Given the description of an element on the screen output the (x, y) to click on. 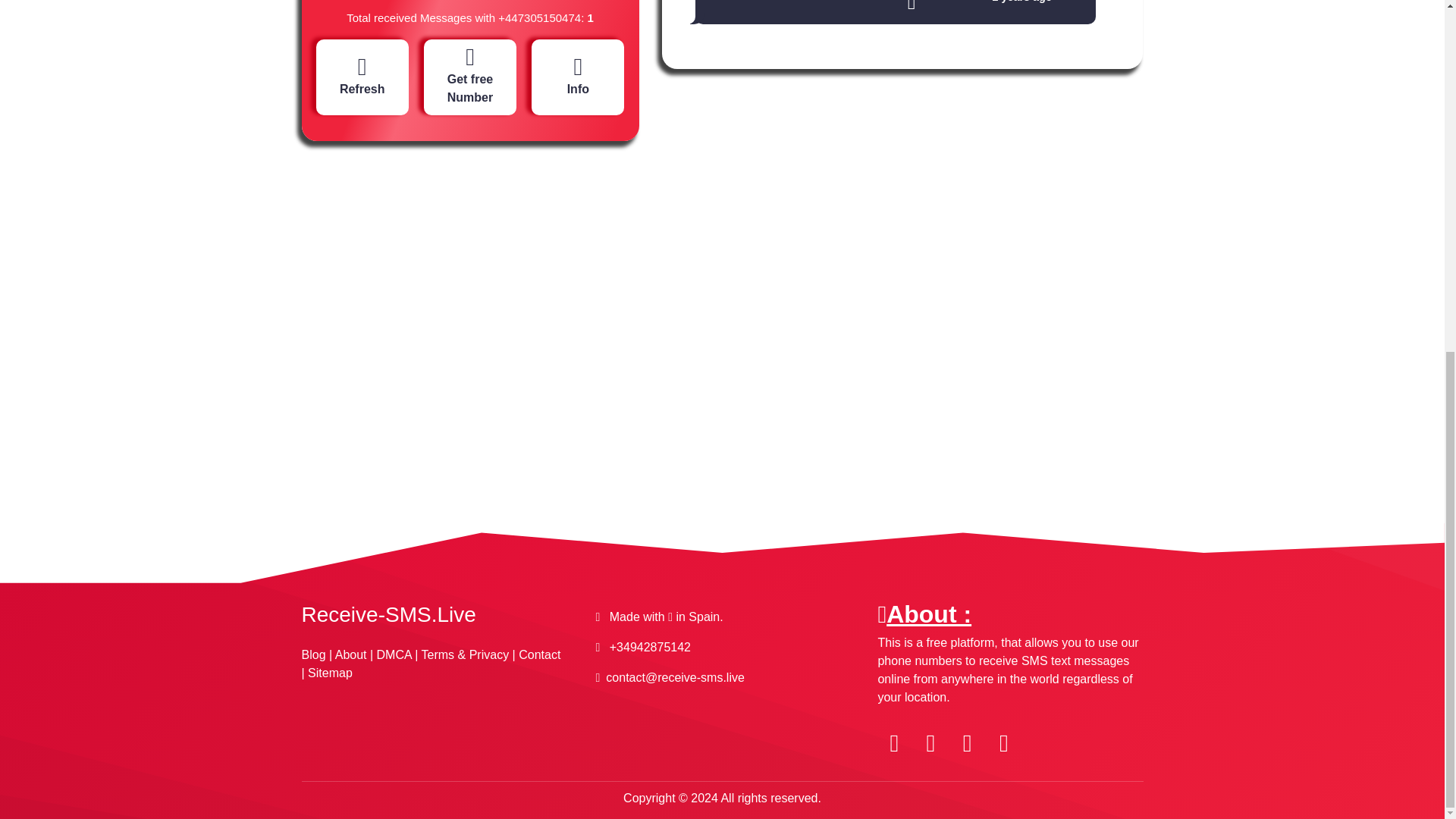
Refresh (362, 76)
Get free Number (470, 75)
About (350, 654)
Sitemap (329, 672)
Advertisement (471, 283)
DMCA (394, 654)
Contact (539, 654)
Blog (313, 654)
